Given the description of an element on the screen output the (x, y) to click on. 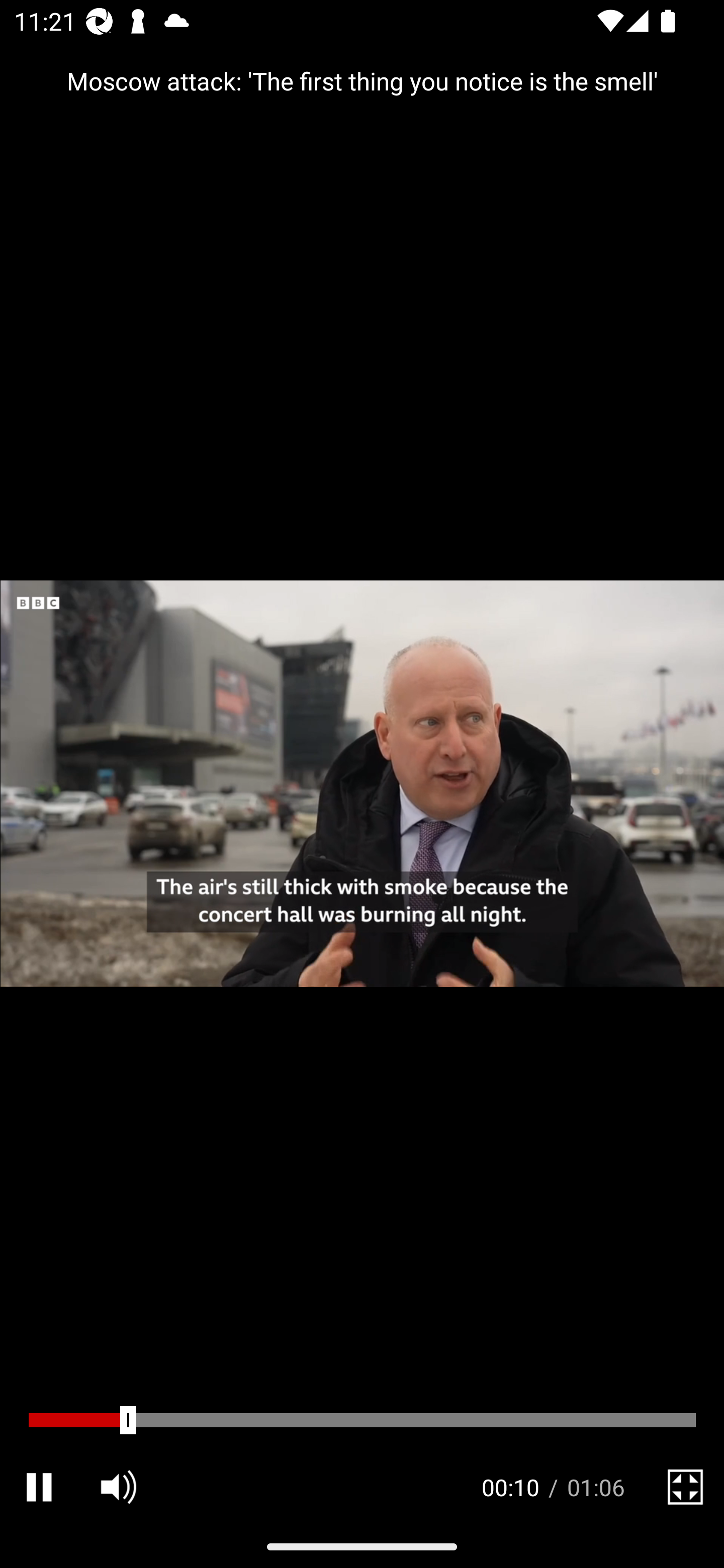
volume (118, 1486)
exit fullscreen (685, 1486)
